Given the description of an element on the screen output the (x, y) to click on. 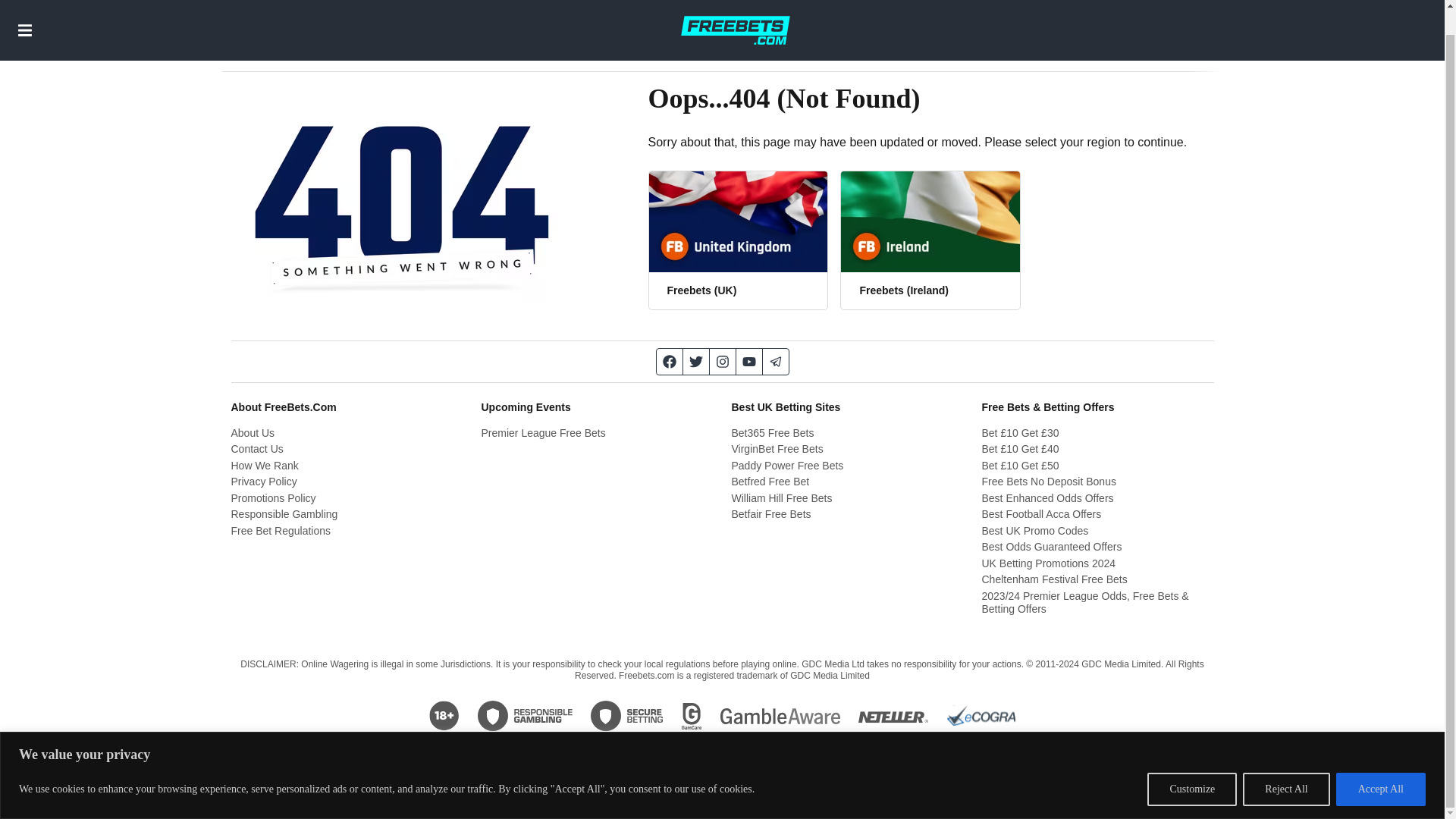
Instagram page (723, 361)
Twitter feed (695, 361)
FreeBets Logo (735, 16)
Youtube page (748, 361)
Telegram (775, 361)
Reject All (1286, 763)
Accept All (1380, 763)
Facebook page (669, 361)
Customize (1191, 763)
